Given the description of an element on the screen output the (x, y) to click on. 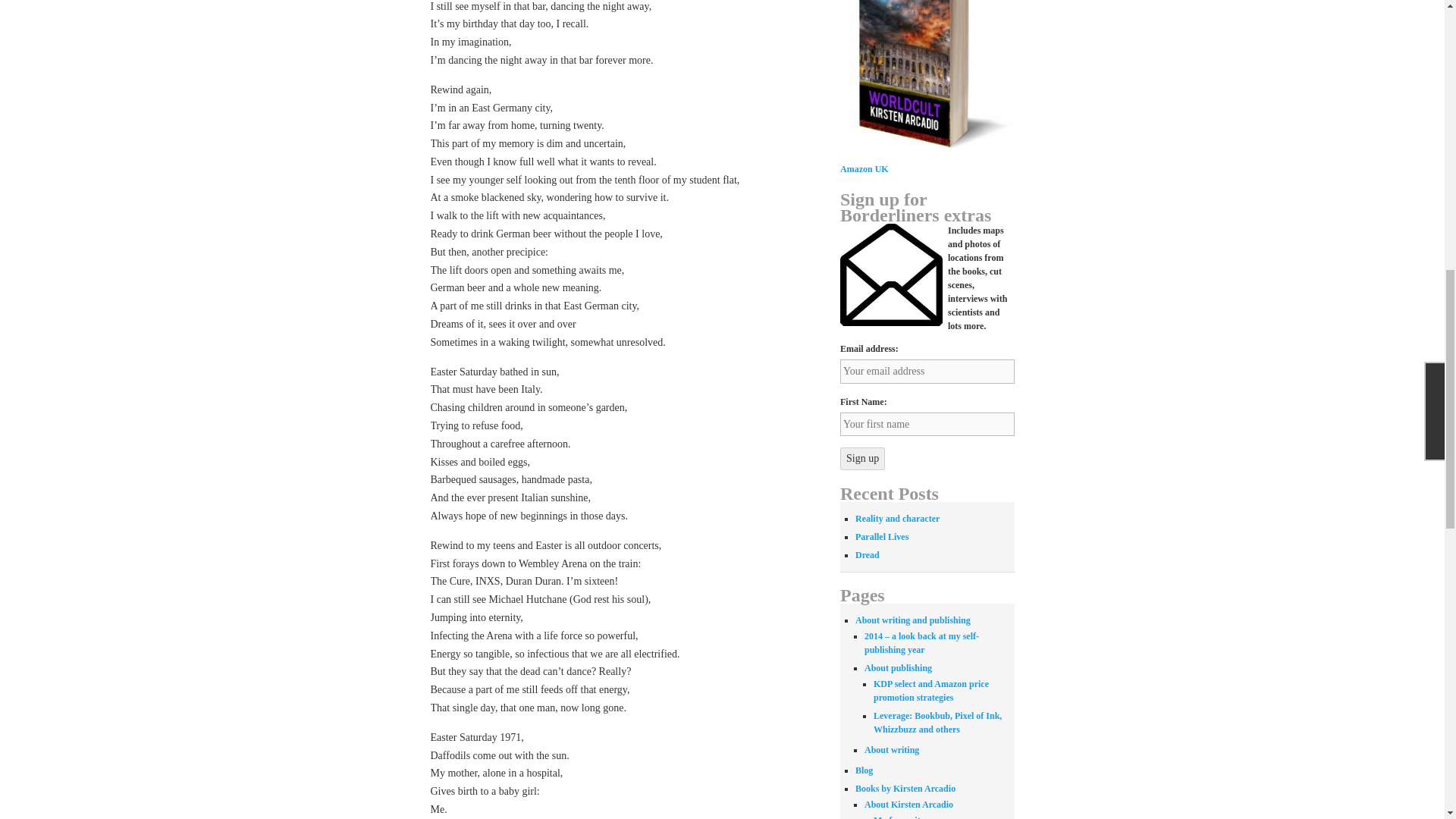
Blog (864, 769)
My favourite resources (917, 816)
About writing (891, 749)
About publishing (897, 667)
About writing and publishing (913, 620)
Dread (867, 554)
Reality and character (897, 518)
Sign up (862, 458)
Parallel Lives (882, 536)
KDP select and Amazon price promotion strategies (930, 690)
